Given the description of an element on the screen output the (x, y) to click on. 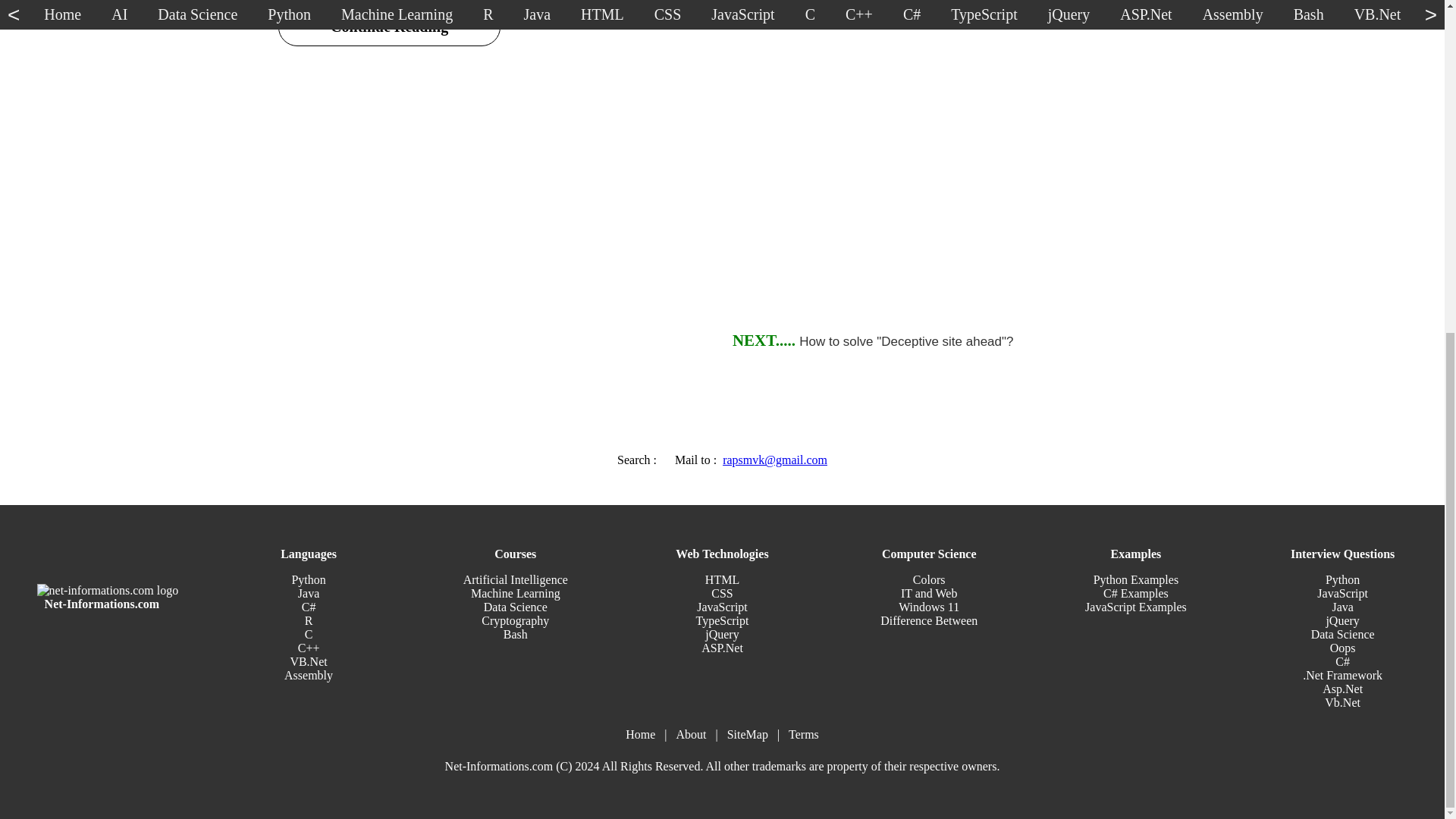
How to solve "Deceptive site ahead"? (906, 341)
Python (307, 579)
Java (308, 593)
